Given the description of an element on the screen output the (x, y) to click on. 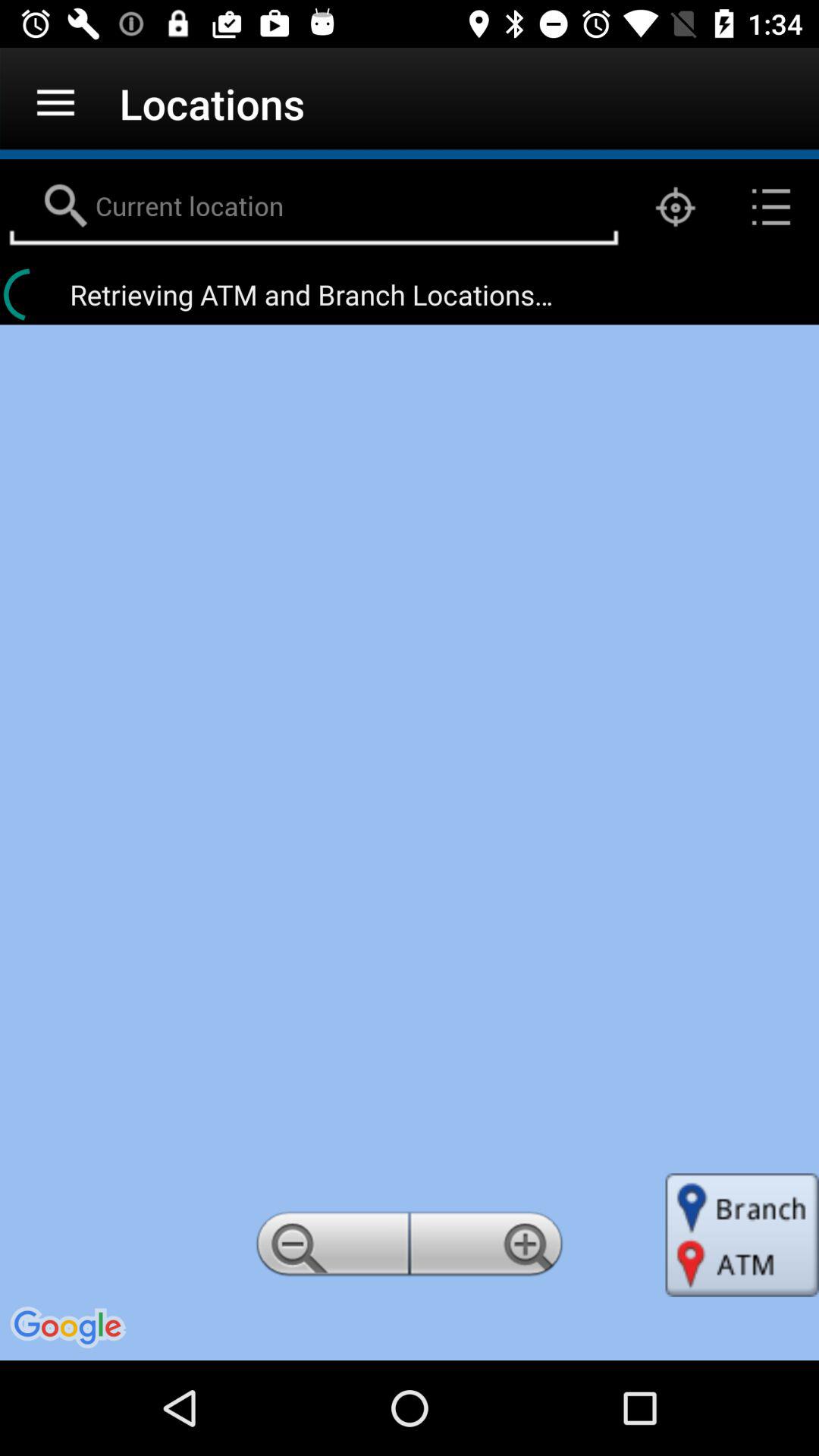
ender the current location box (313, 206)
